Given the description of an element on the screen output the (x, y) to click on. 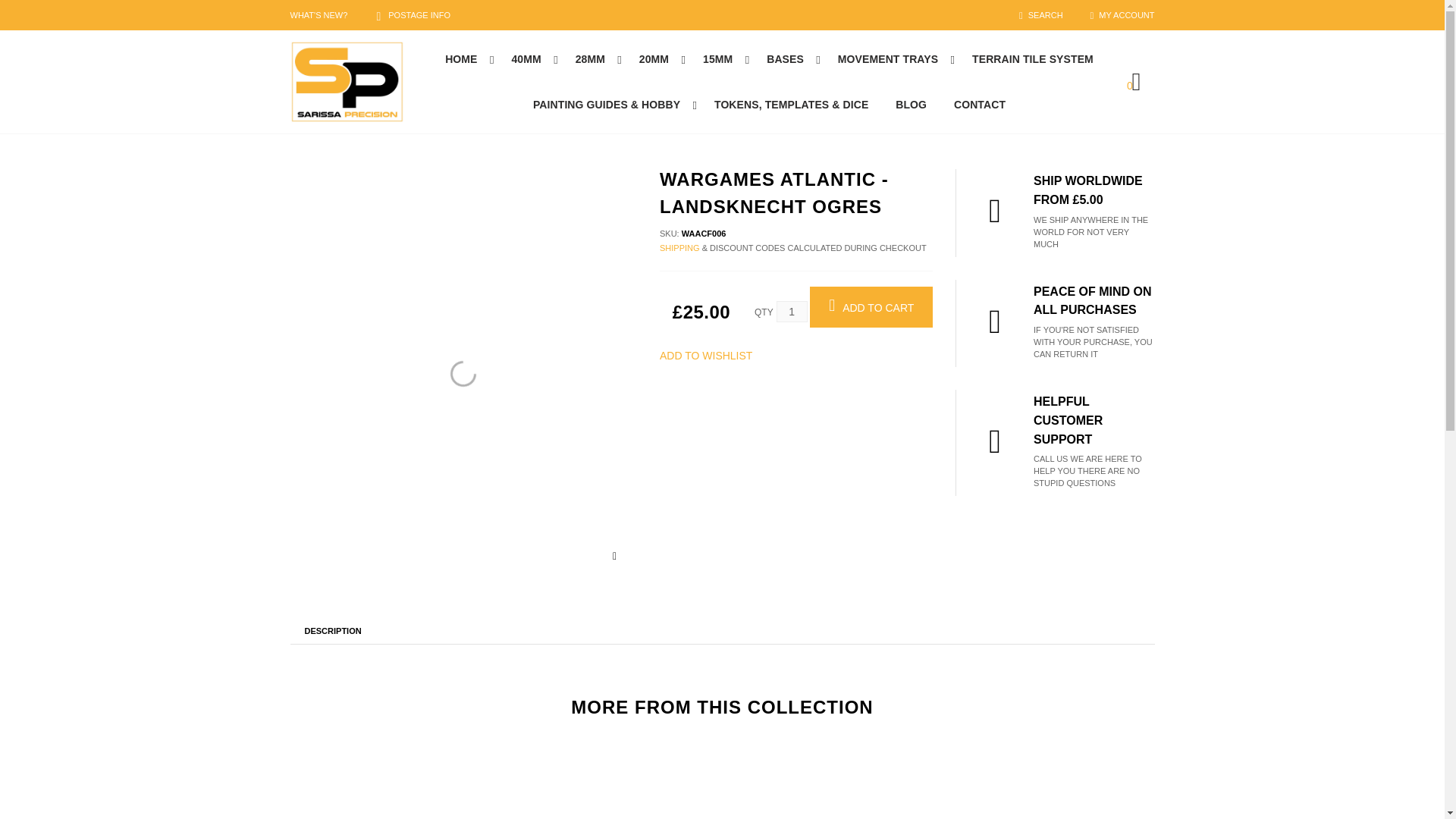
1 (792, 311)
